Given the description of an element on the screen output the (x, y) to click on. 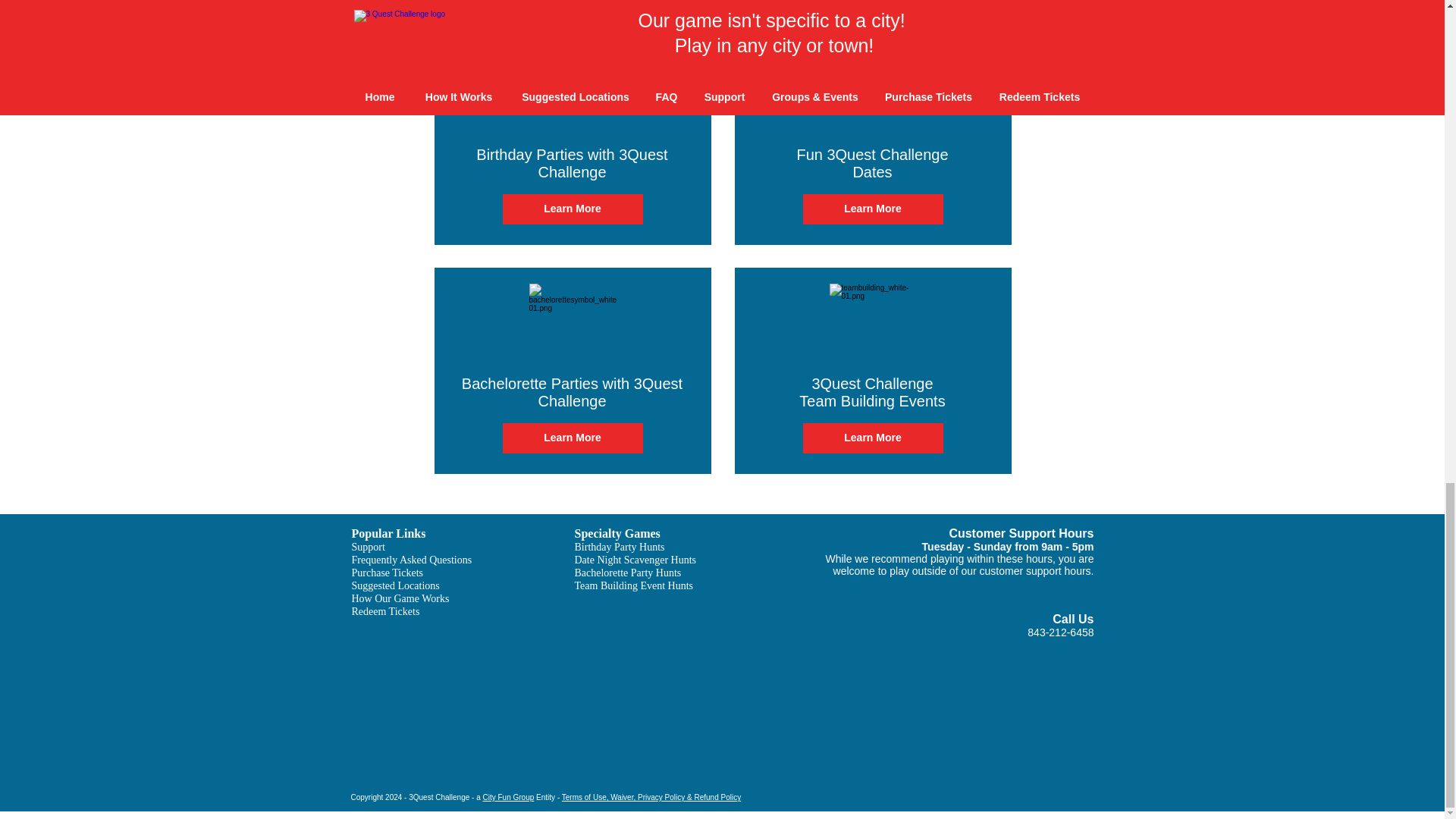
Bachelorette Party Hunts (628, 572)
Popular Links (389, 533)
Learn More (572, 209)
Birthday Party Hunts (620, 546)
Team Building Event Hunts (634, 585)
Learn More (872, 438)
How Our Game Works (400, 598)
Date Night Scavenger Hunts (636, 559)
Learn More (872, 209)
ocations (421, 585)
Purchase Tickets (387, 572)
Suggested L (378, 585)
Specialty Games (618, 533)
Learn More (572, 438)
Frequently Asked Questions (411, 559)
